Given the description of an element on the screen output the (x, y) to click on. 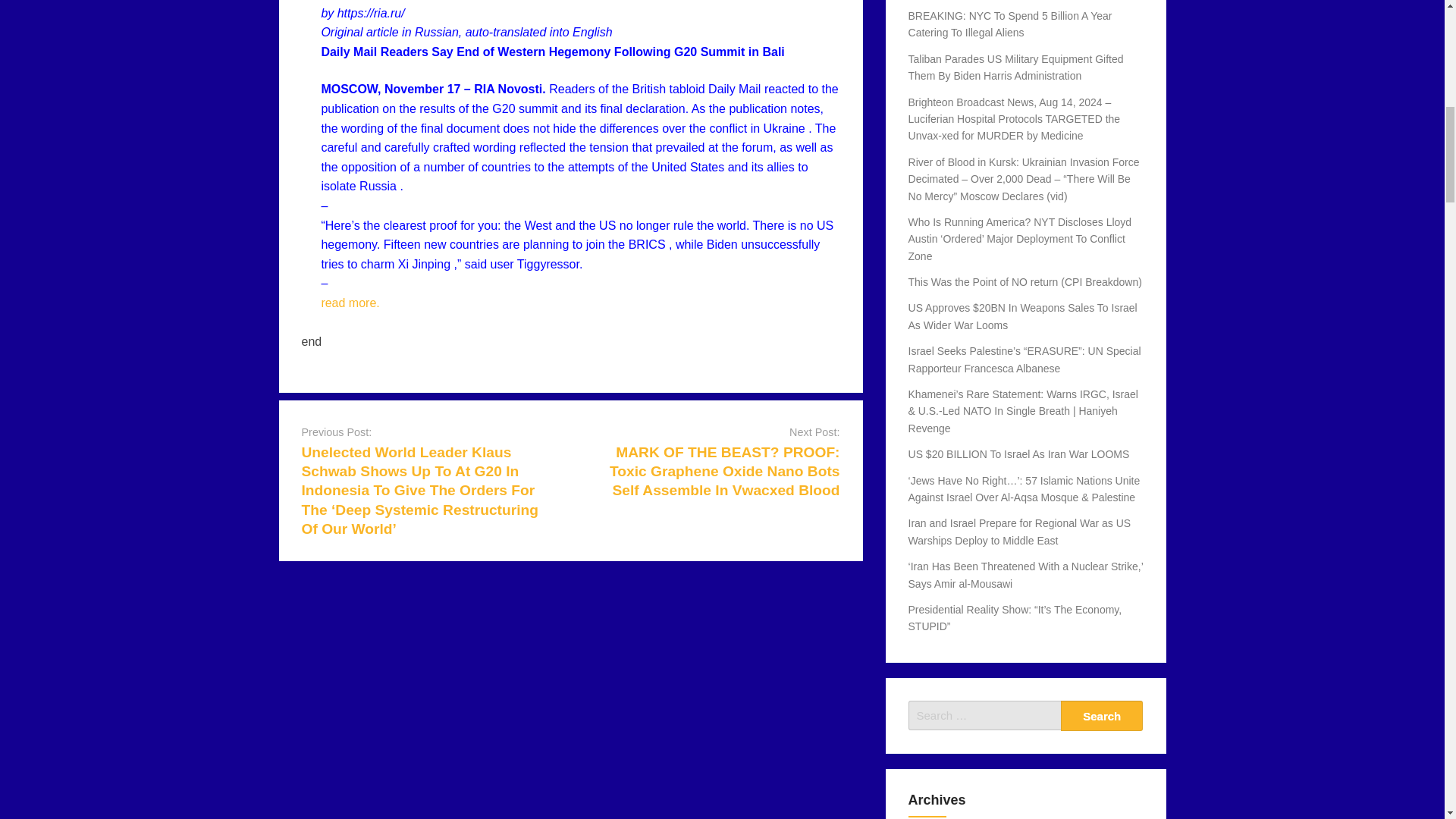
Russia (377, 185)
Search (1101, 716)
United States (686, 166)
BRICS (646, 244)
Search (1101, 716)
Search (1101, 716)
Biden (722, 244)
reacted (784, 88)
